Given the description of an element on the screen output the (x, y) to click on. 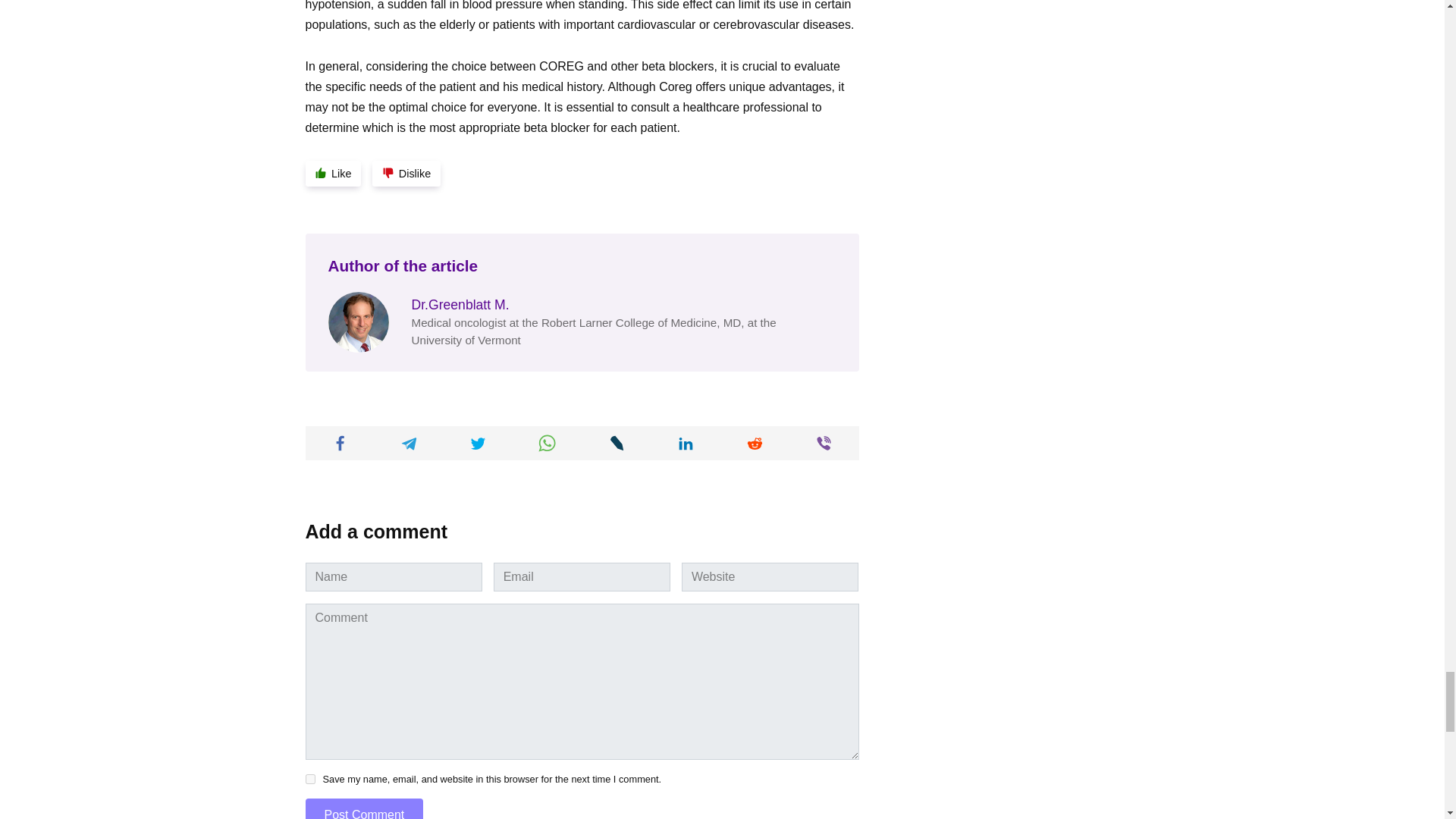
Post Comment (363, 808)
Like (332, 173)
Post Comment (363, 808)
Dislike (406, 173)
yes (309, 778)
